Given the description of an element on the screen output the (x, y) to click on. 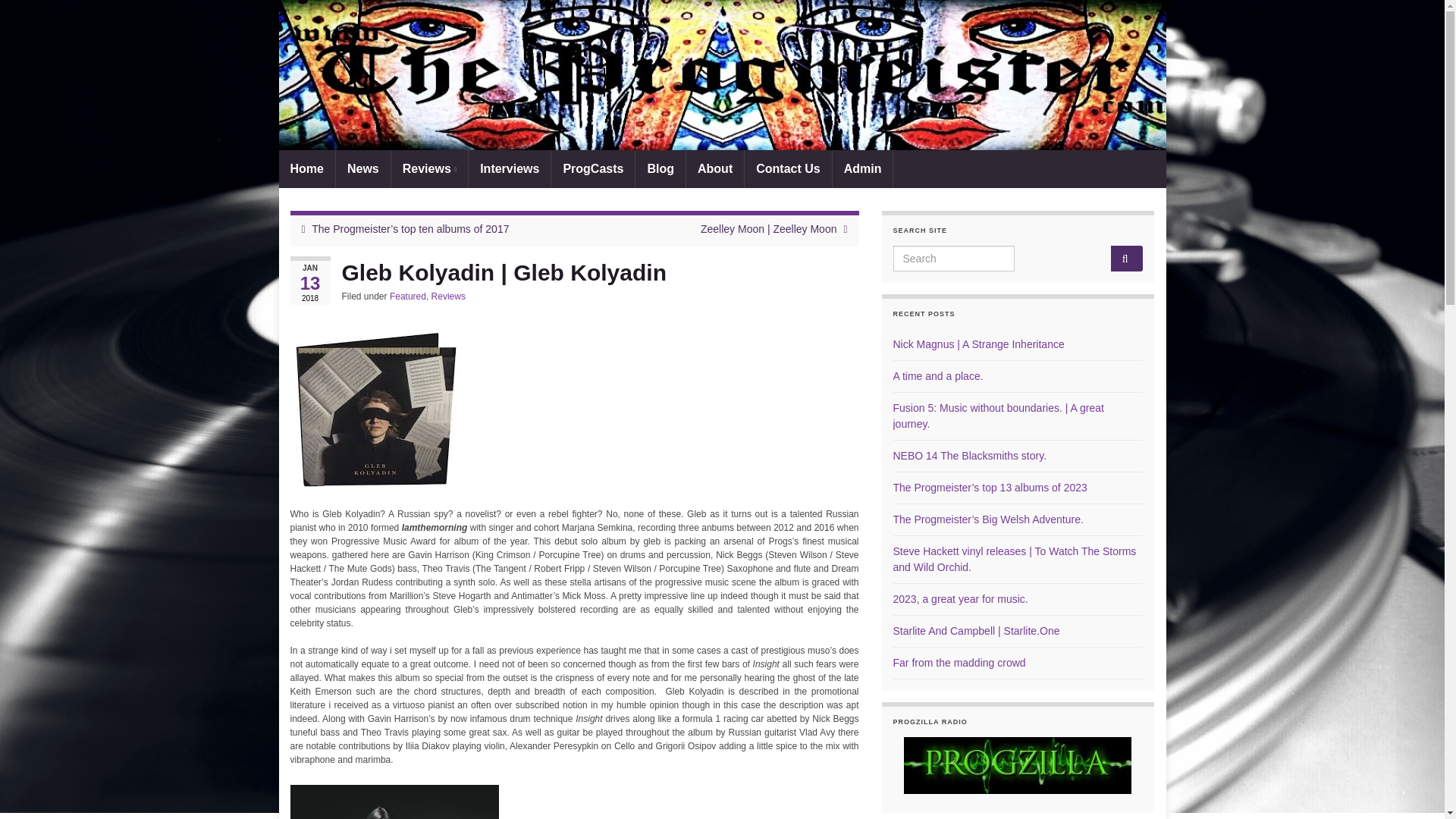
Admin (862, 168)
Far from the madding crowd (959, 662)
NEBO 14 The Blacksmiths story. (969, 455)
2023, a great year for music. (960, 598)
News (363, 168)
Reviews (447, 296)
Contact Us (787, 168)
Click to Visit Progzilla Radio (1017, 765)
About (714, 168)
